Given the description of an element on the screen output the (x, y) to click on. 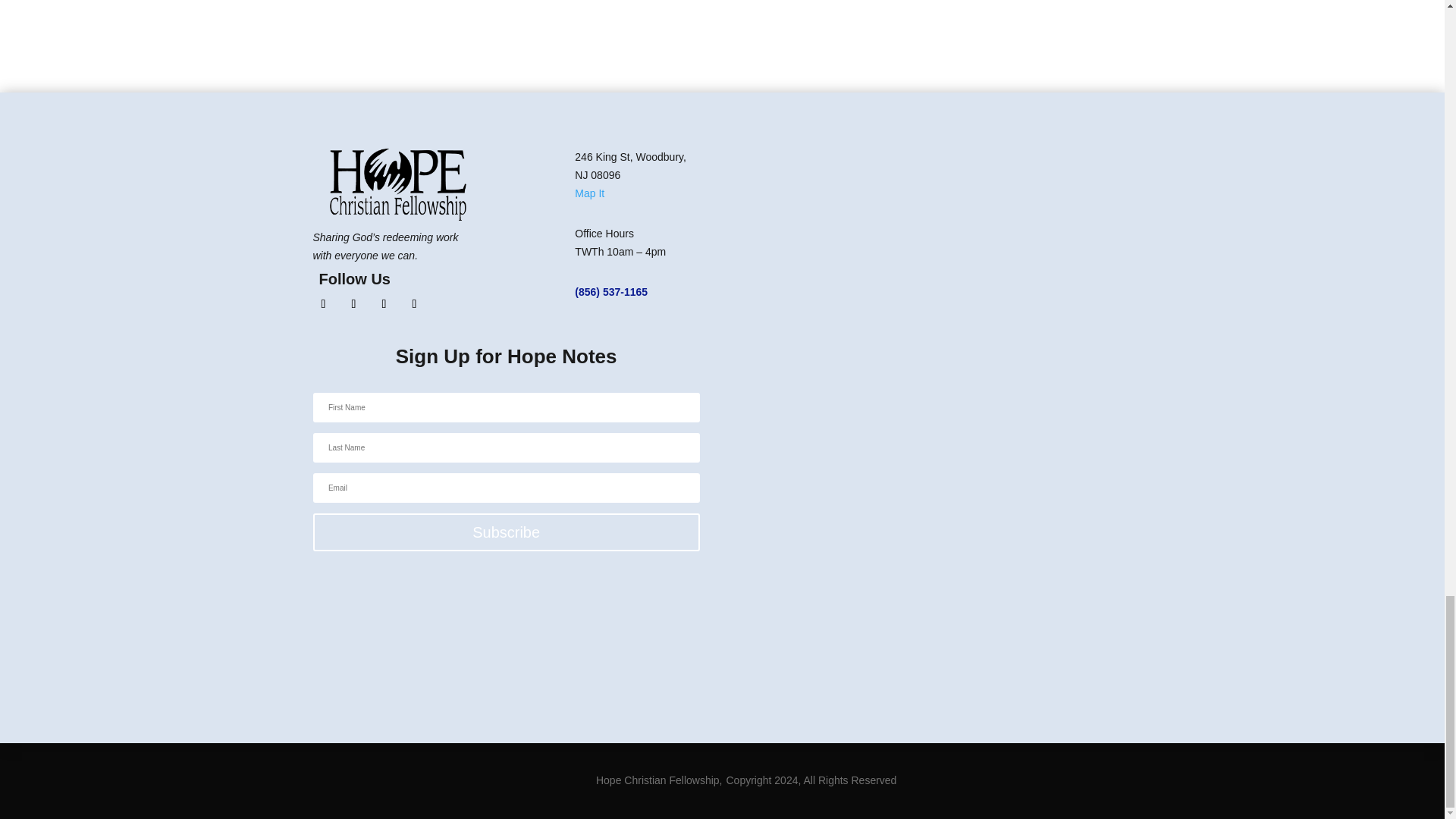
Follow on Google (413, 303)
Follow on Facebook (322, 303)
hope-christian-fellowship-woodburty (397, 184)
Follow on Instagram (352, 303)
Follow on Youtube (383, 303)
